Given the description of an element on the screen output the (x, y) to click on. 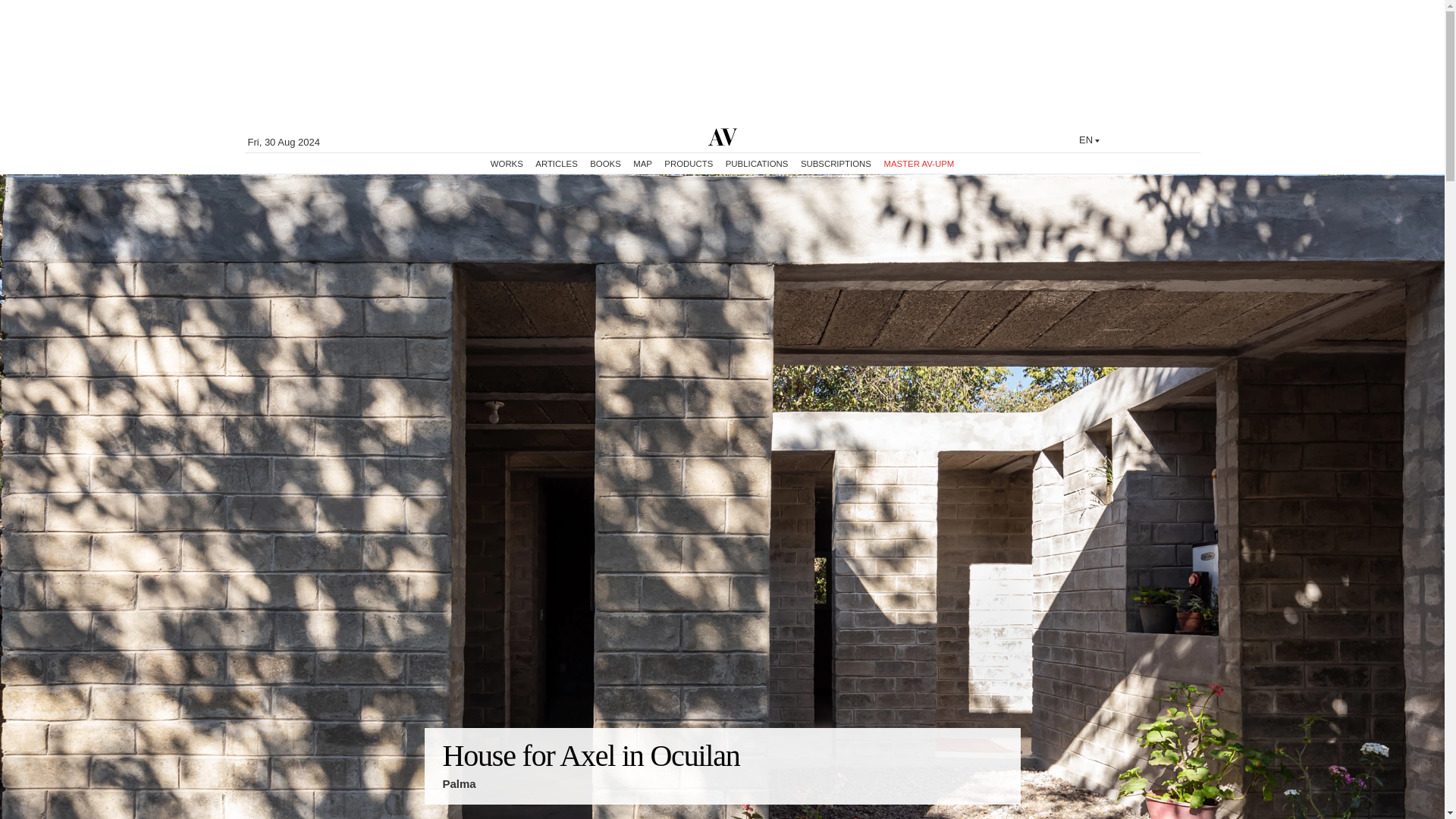
Add to favoites (978, 797)
Share this on Pinterest (984, 797)
Share this on Twitter (989, 797)
Share this on Whatsapp (1002, 797)
Share this on Facebook (995, 797)
